Given the description of an element on the screen output the (x, y) to click on. 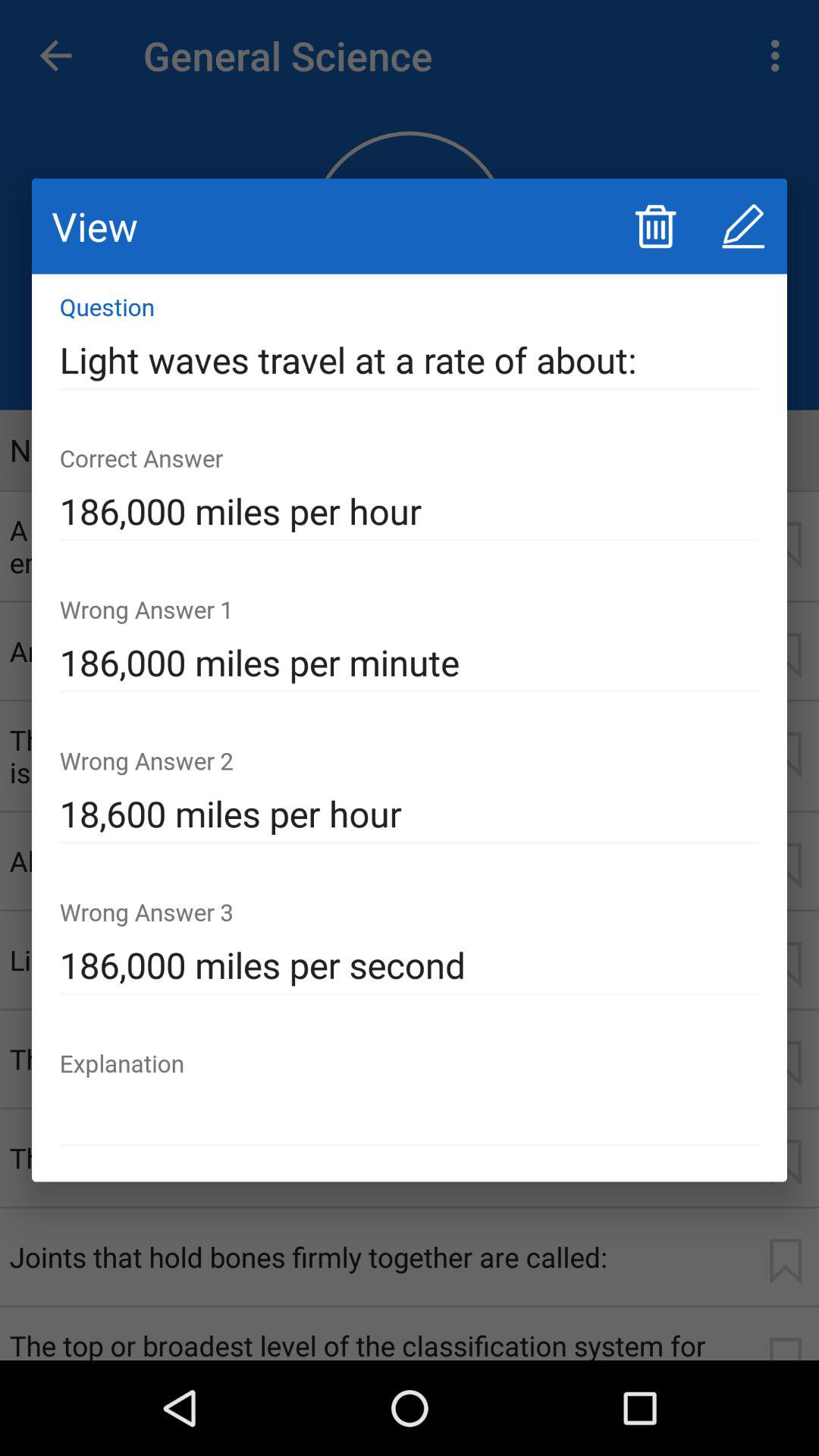
turn on the item below the 186 000 miles icon (409, 814)
